Given the description of an element on the screen output the (x, y) to click on. 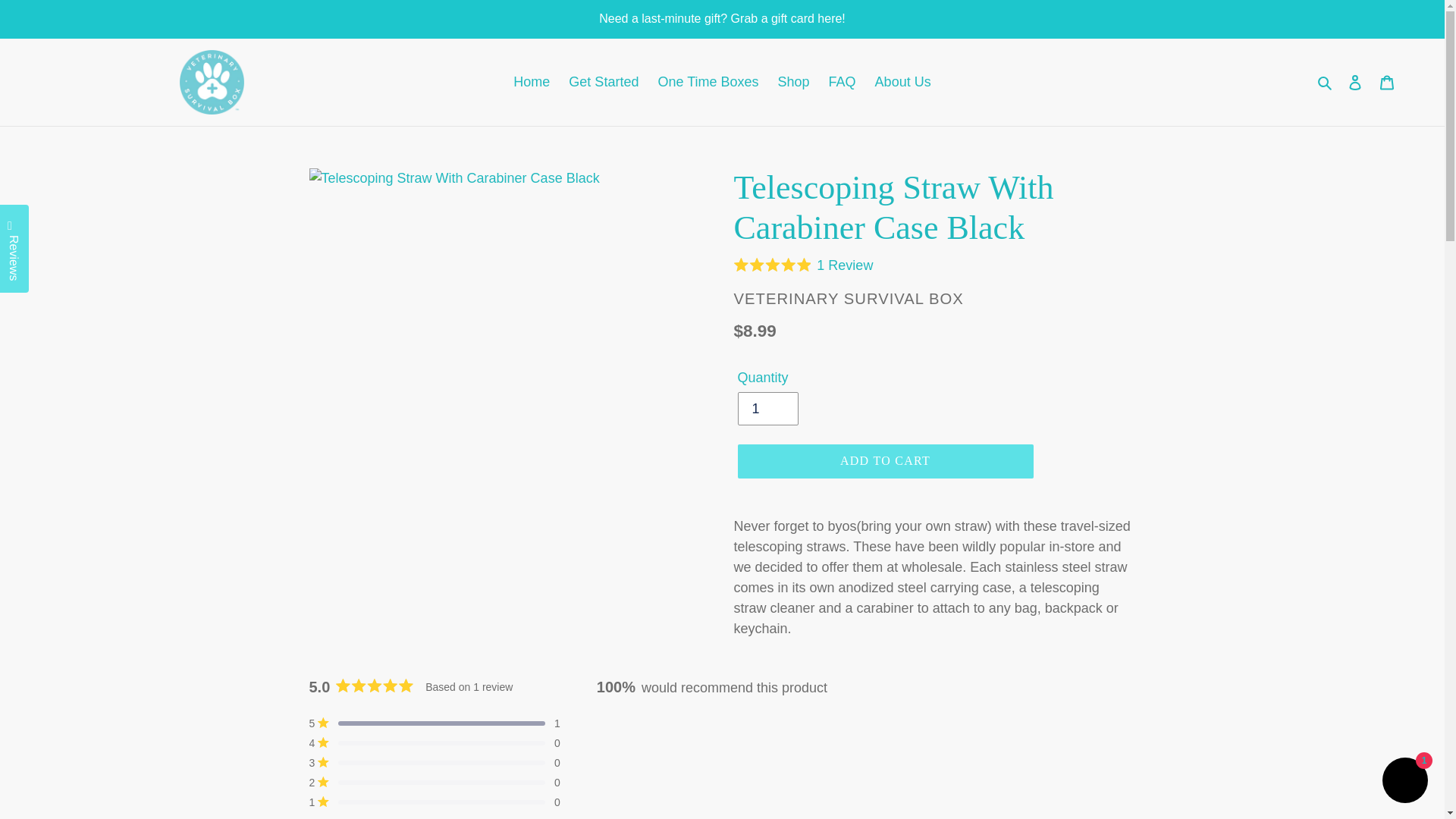
Log in (1355, 81)
1 (766, 408)
Shop (793, 82)
Cart (1387, 81)
Need a last-minute gift? Grab a gift card here! (721, 18)
One Time Boxes (707, 82)
About Us (903, 82)
Search (1326, 82)
FAQ (842, 82)
Home (531, 82)
Shopify online store chat (1404, 781)
Get Started (603, 82)
ADD TO CART (884, 460)
